Given the description of an element on the screen output the (x, y) to click on. 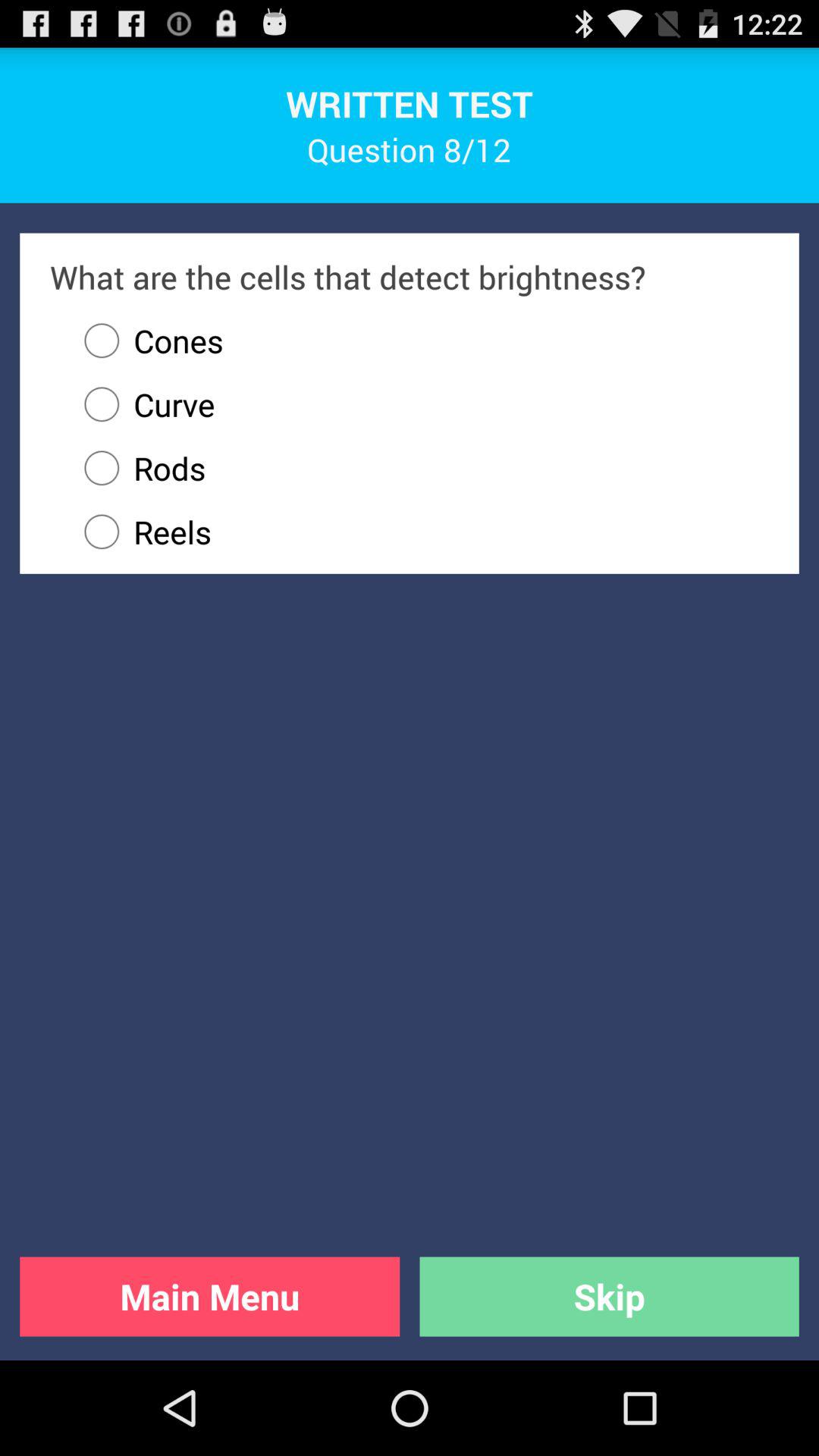
swipe to reels radio button (418, 531)
